Given the description of an element on the screen output the (x, y) to click on. 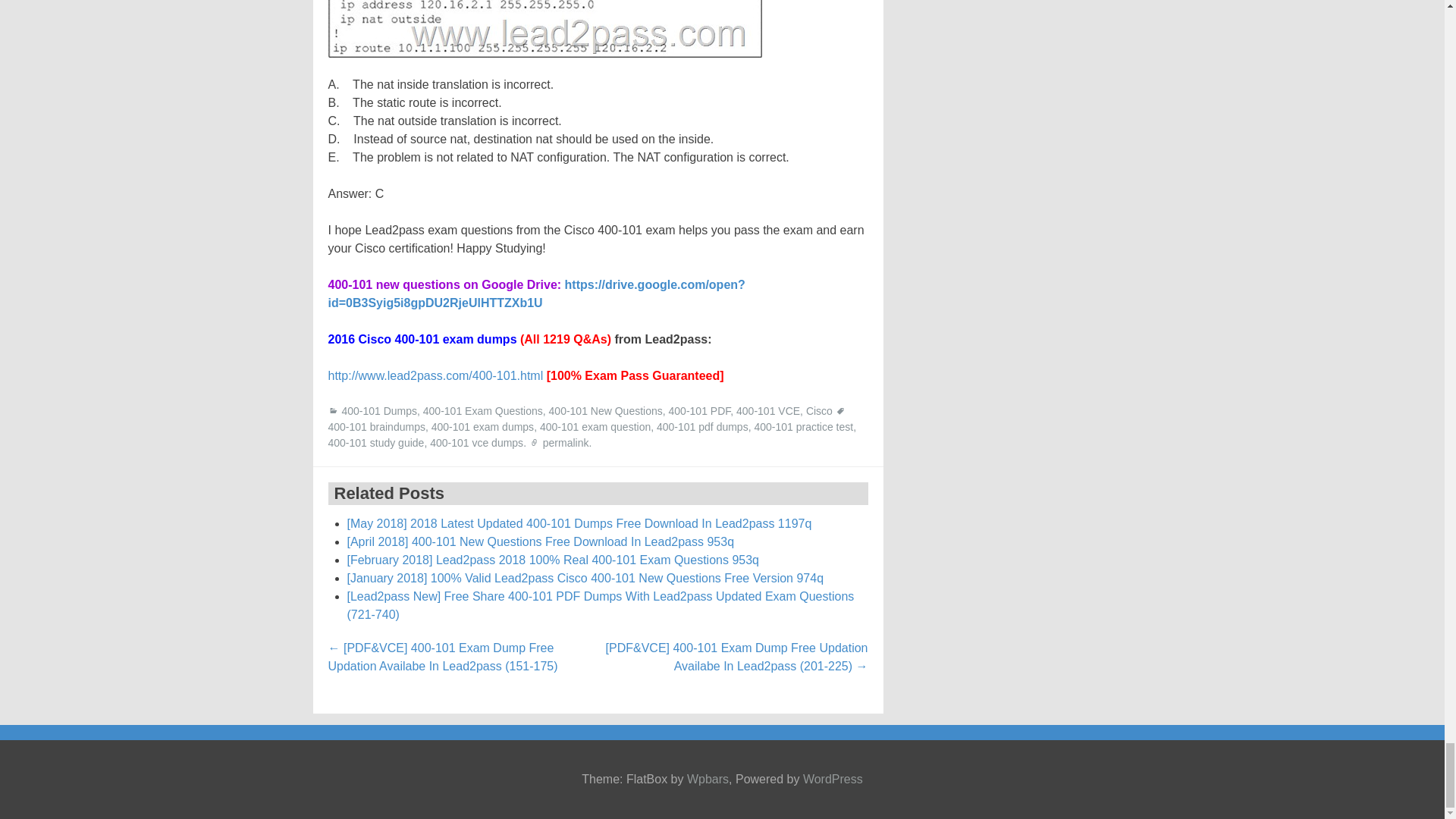
400-101 PDF (699, 410)
400-101 VCE (767, 410)
400-101 exam dumps (482, 426)
400-101 New Questions (605, 410)
400-101 Exam Questions (483, 410)
400-101 braindumps (376, 426)
400-101 Dumps (378, 410)
Cisco (819, 410)
